Given the description of an element on the screen output the (x, y) to click on. 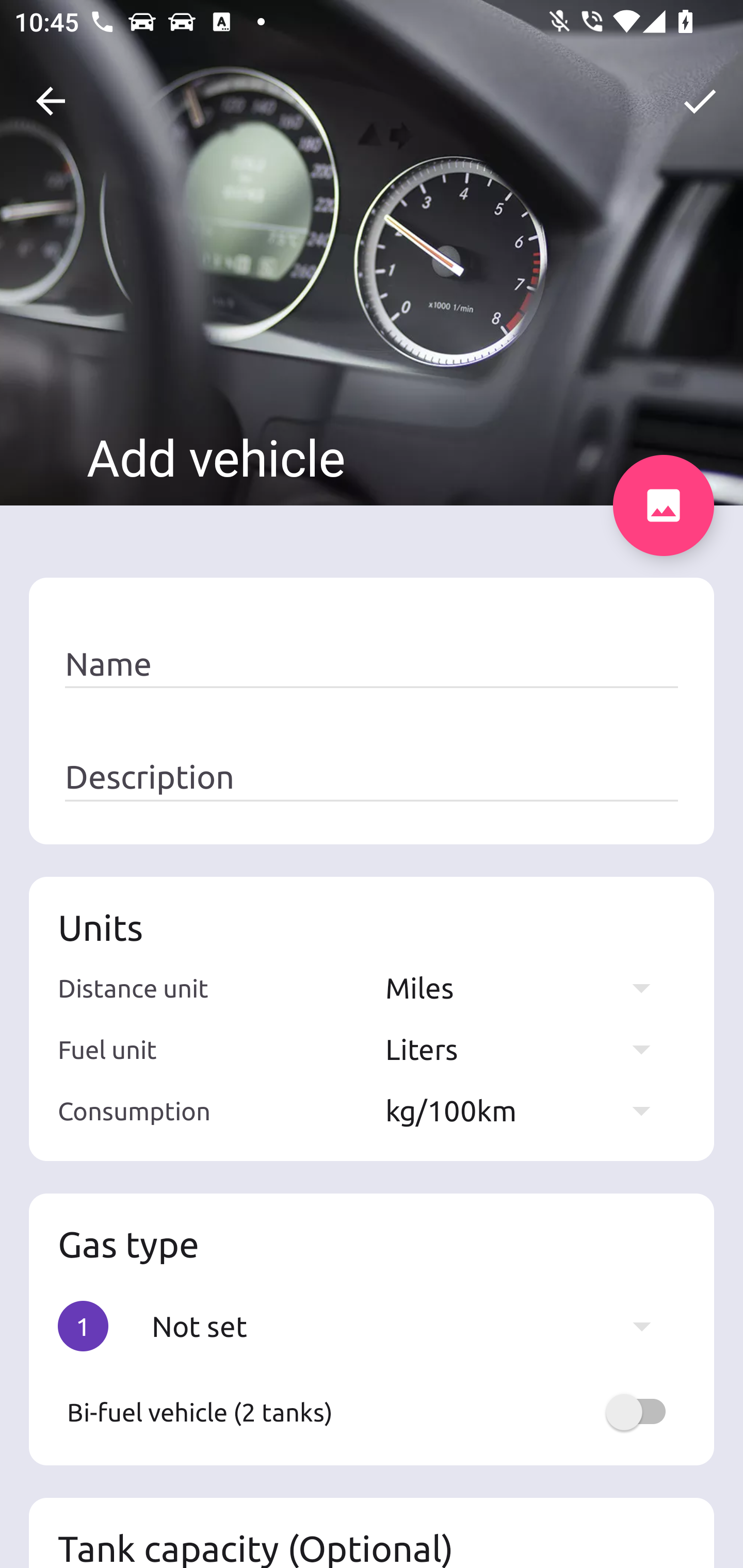
Navigate up (50, 101)
OK (699, 101)
Name (371, 664)
Description (371, 777)
Miles (527, 987)
Liters (527, 1048)
kg/100km (527, 1110)
Not set (411, 1325)
Bi-fuel vehicle (2 tanks) (371, 1411)
